Given the description of an element on the screen output the (x, y) to click on. 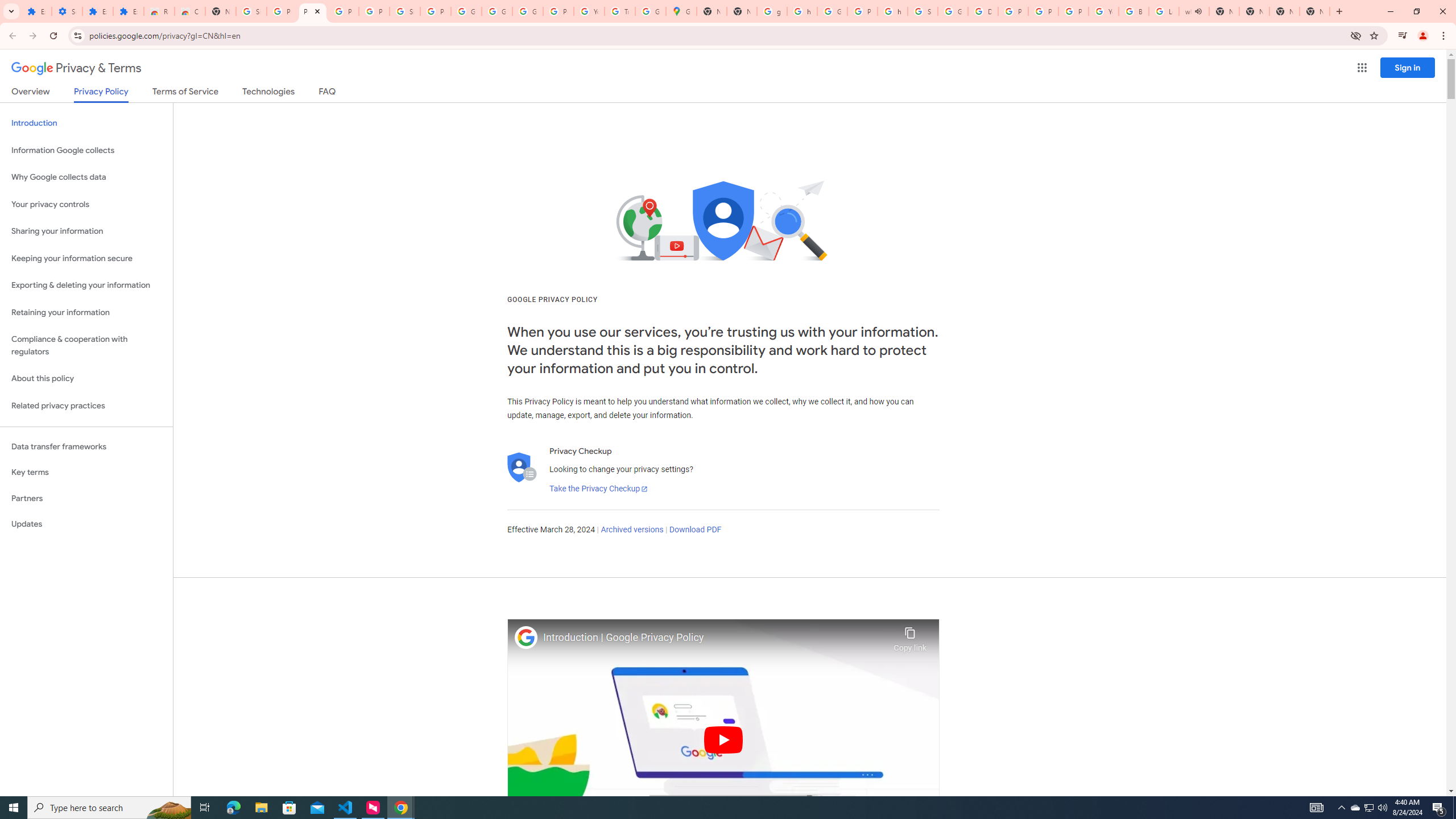
Introduction (86, 122)
Your privacy controls (86, 204)
About this policy (86, 379)
Sign in - Google Accounts (922, 11)
Privacy Help Center - Policies Help (1042, 11)
